Given the description of an element on the screen output the (x, y) to click on. 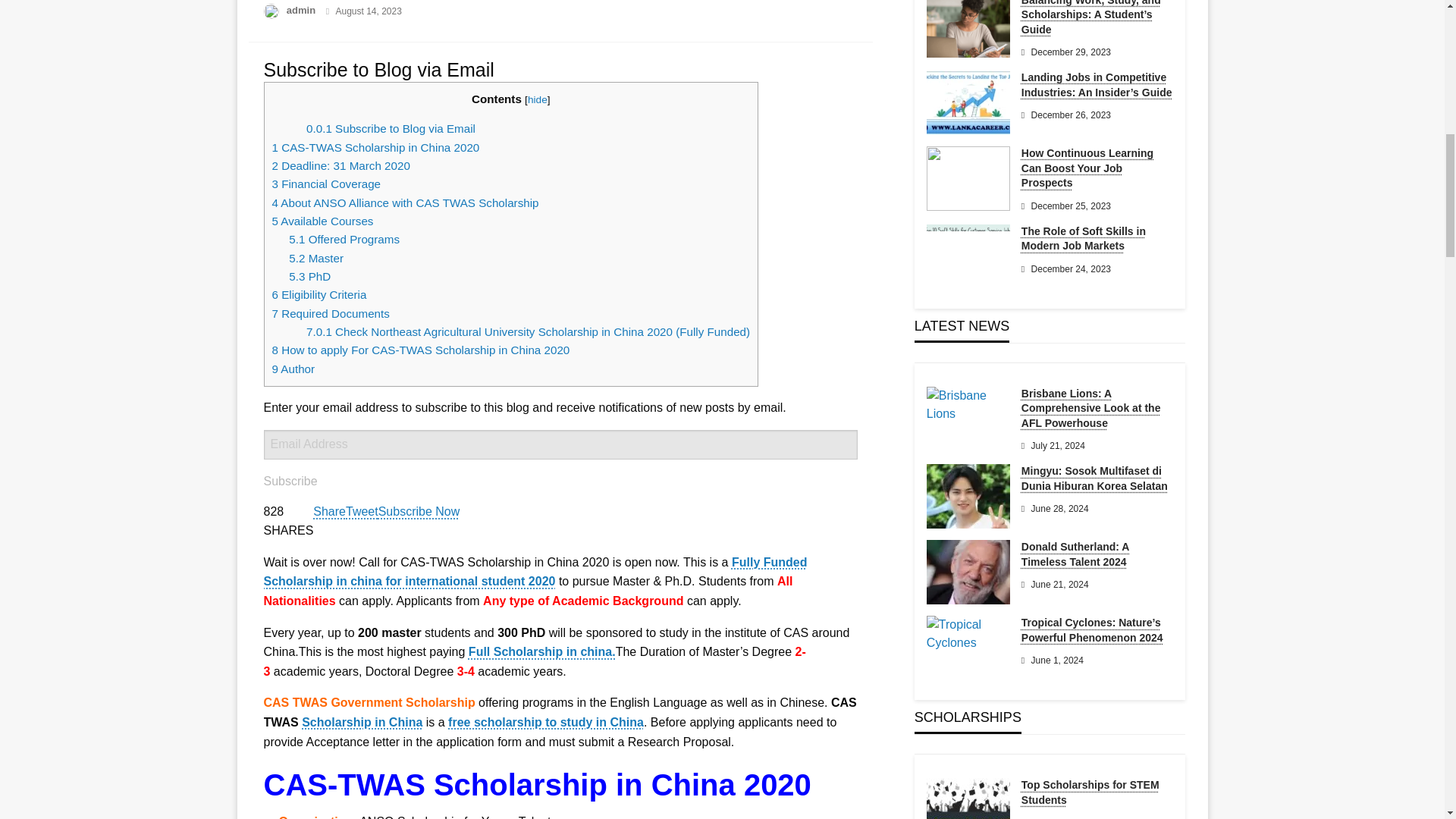
5 Available Courses  (322, 220)
hide (537, 99)
August 14, 2023 (367, 10)
admin (302, 9)
1 CAS-TWAS Scholarship in China 2020 (374, 146)
admin (302, 9)
3 Financial Coverage (325, 183)
4 About ANSO Alliance with CAS TWAS Scholarship (404, 202)
0.0.1 Subscribe to Blog via Email (390, 128)
2 Deadline: 31 March 2020 (339, 164)
